Given the description of an element on the screen output the (x, y) to click on. 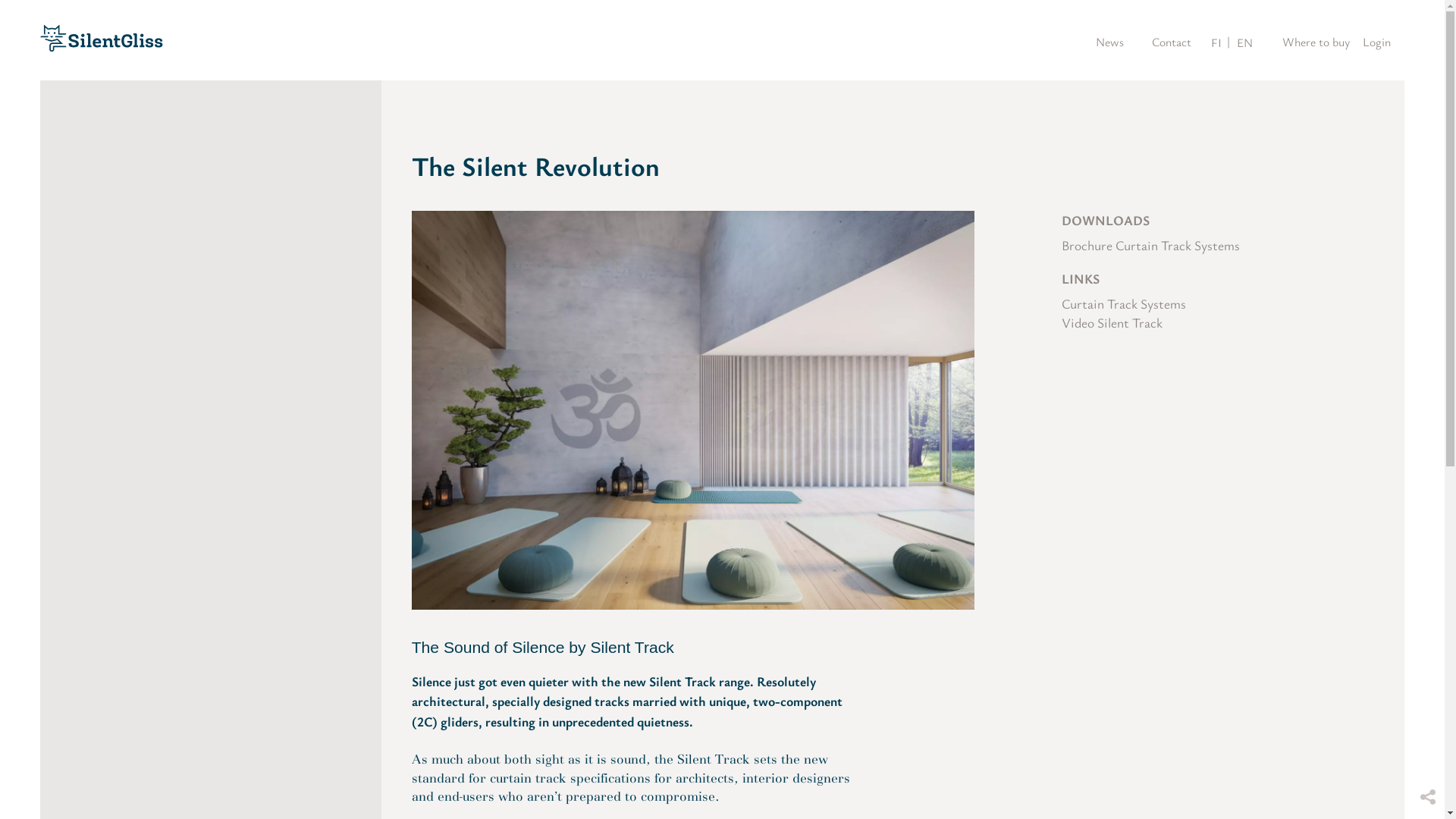
News (1107, 41)
Search (1059, 41)
FI (1216, 42)
Contact (1169, 41)
Finnish (1216, 42)
Where to buy (1312, 41)
Login (1383, 41)
